Given the description of an element on the screen output the (x, y) to click on. 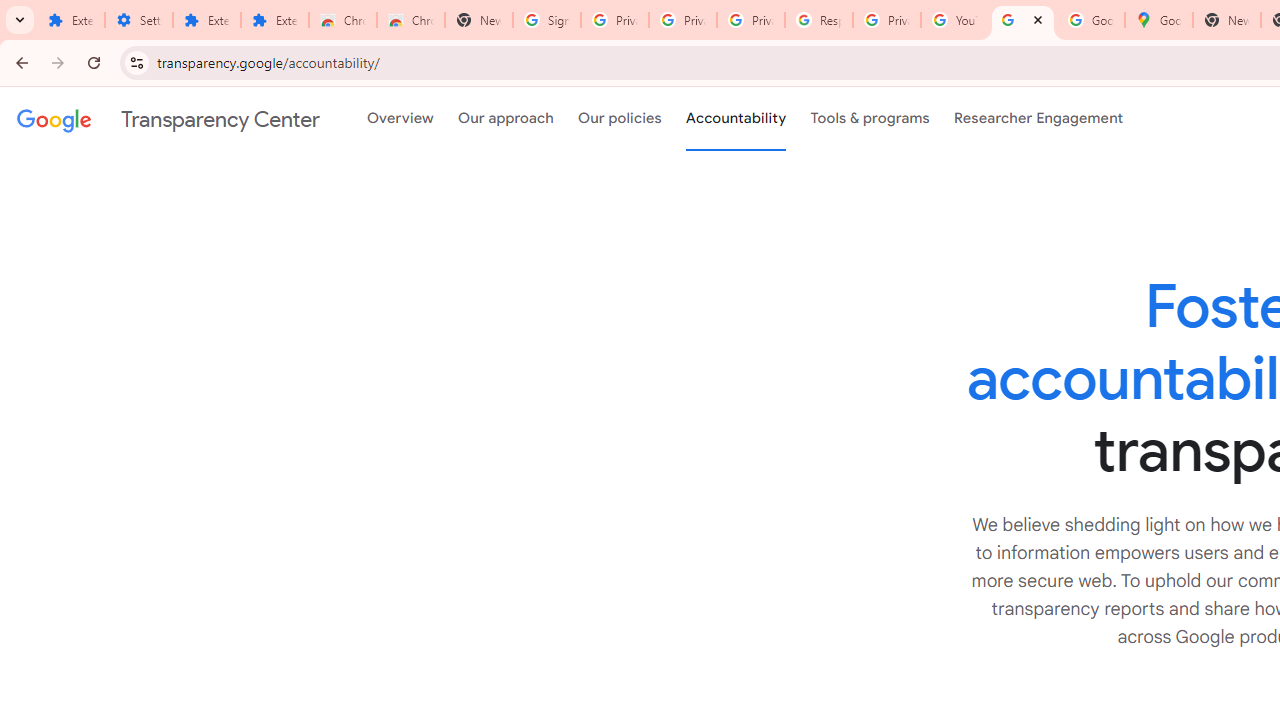
Our policies (619, 119)
Settings (138, 20)
Extensions (70, 20)
